Given the description of an element on the screen output the (x, y) to click on. 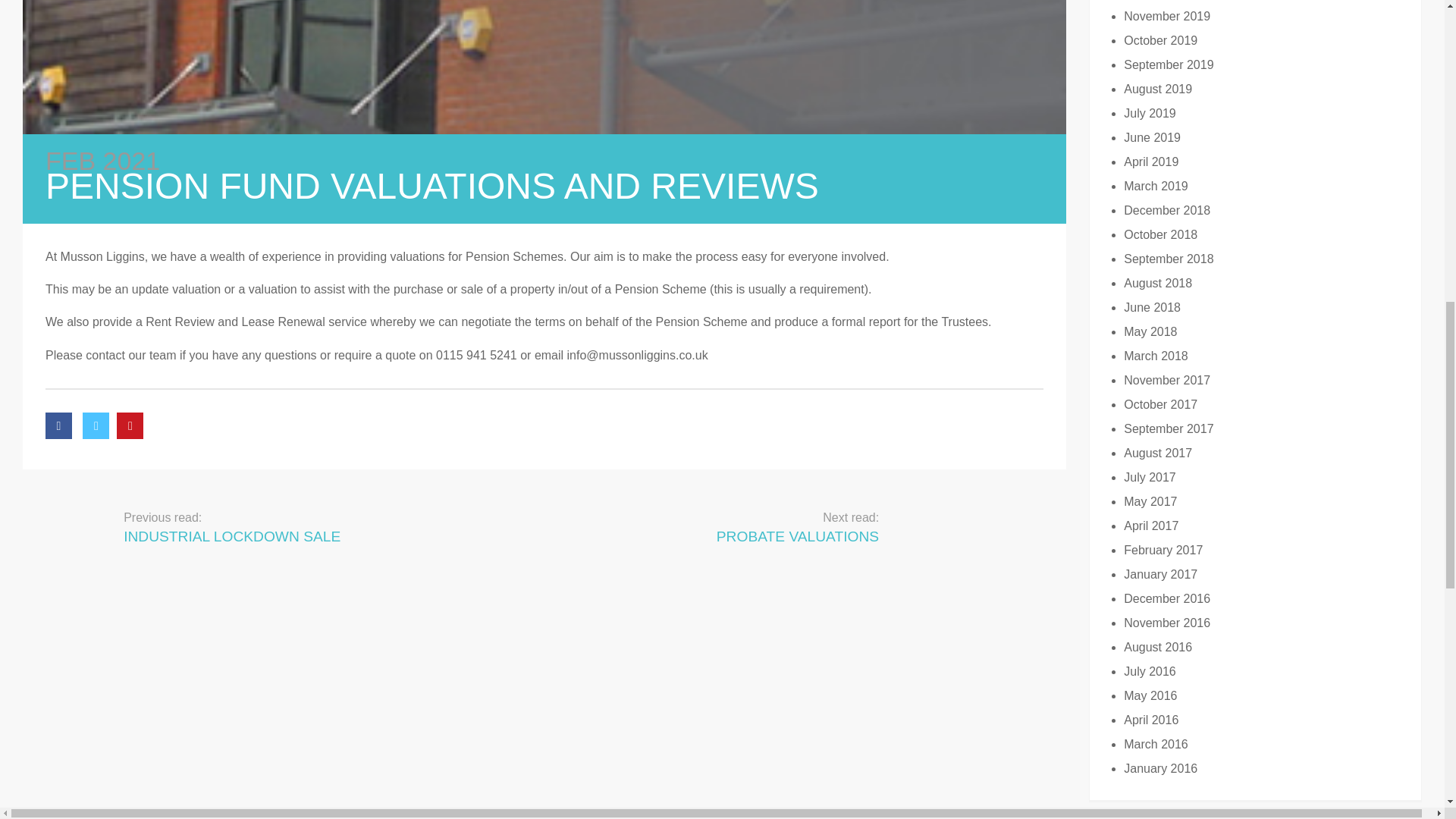
Share on Pinterest (129, 425)
Share on Facebook (58, 425)
Share on Twitter (695, 526)
